Given the description of an element on the screen output the (x, y) to click on. 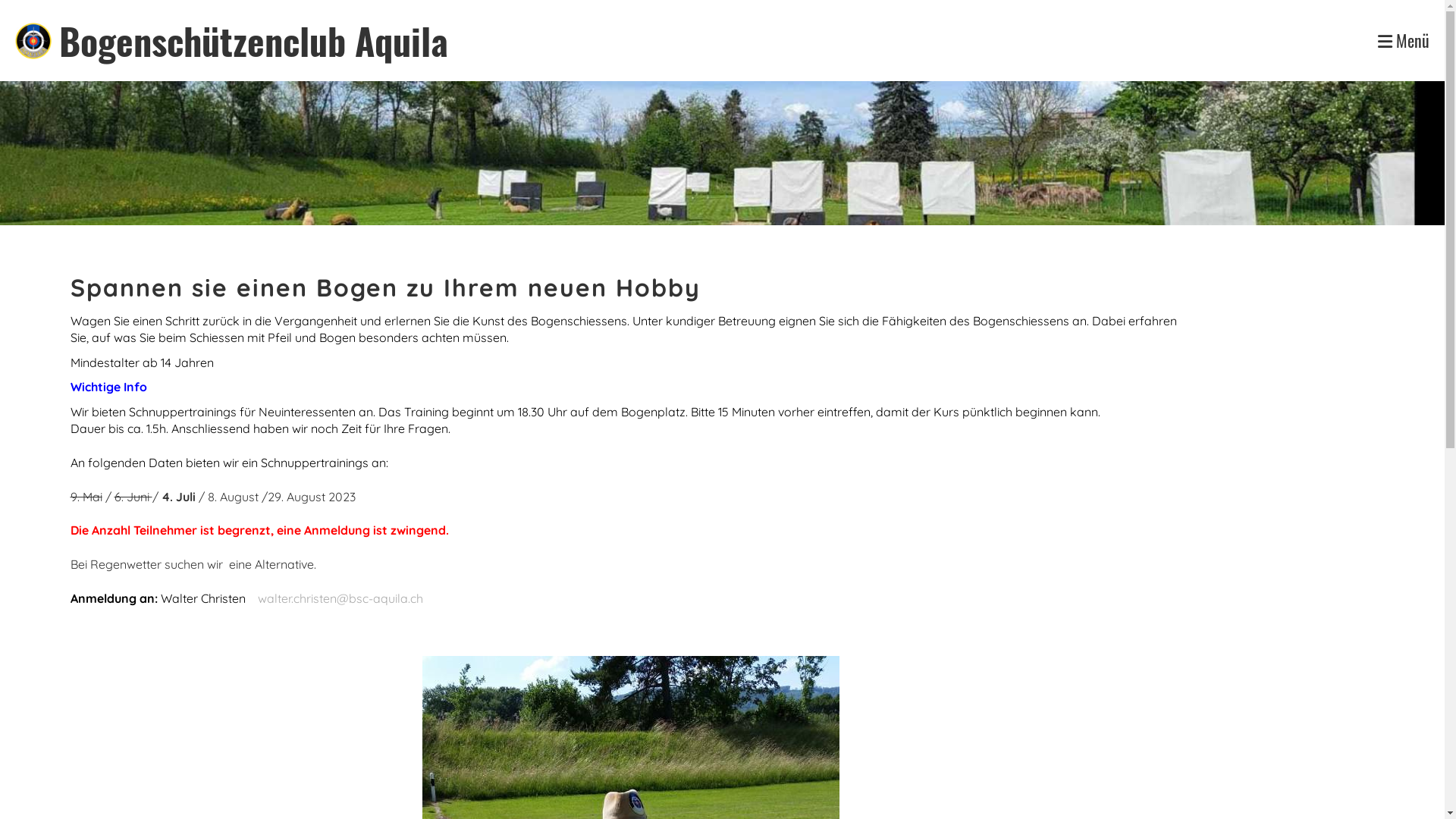
walter.christen@bsc-aquila.ch Element type: text (340, 597)
